Given the description of an element on the screen output the (x, y) to click on. 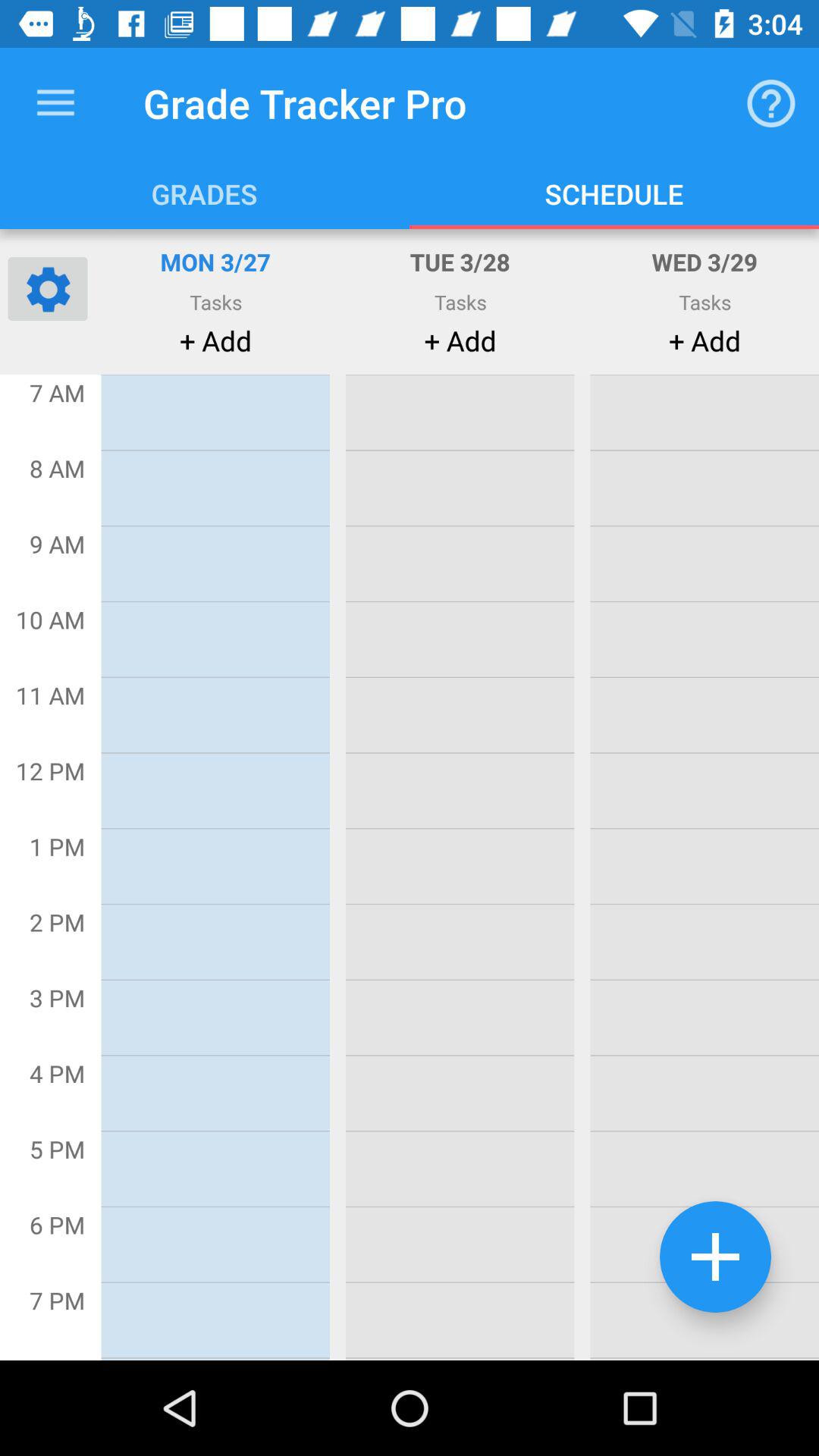
settings (47, 288)
